Given the description of an element on the screen output the (x, y) to click on. 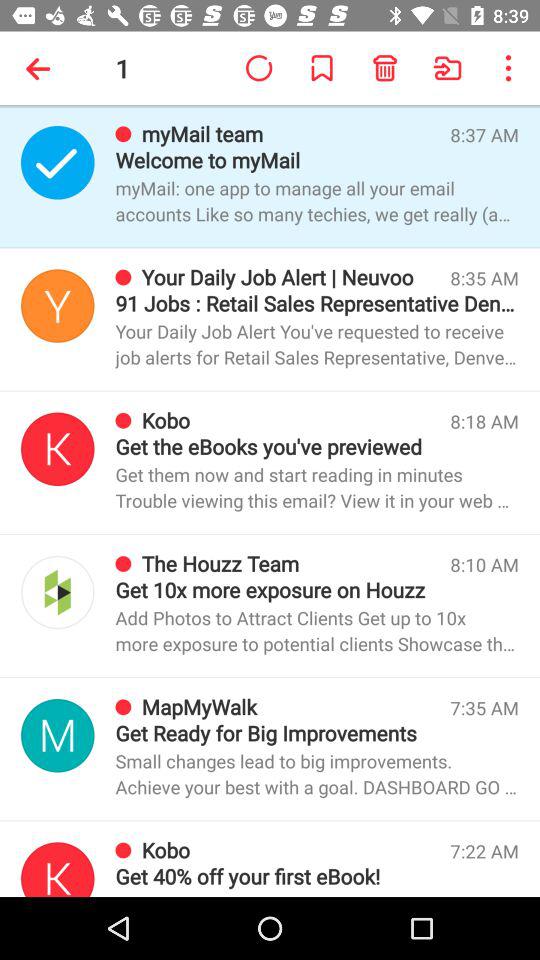
toggle email (57, 162)
